Given the description of an element on the screen output the (x, y) to click on. 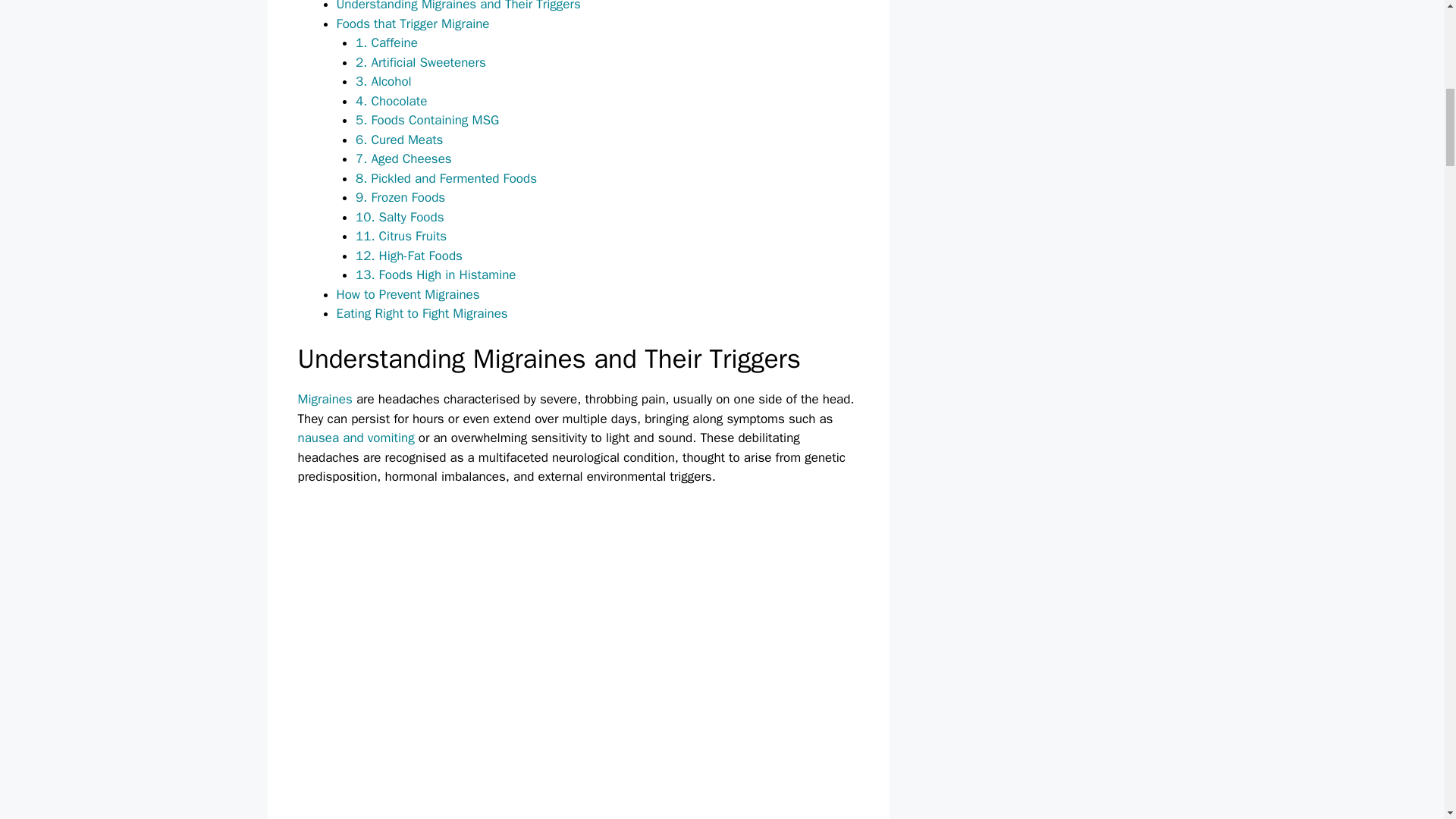
12. High-Fat Foods (409, 255)
1. Caffeine (386, 42)
Foods that Trigger Migraine (412, 23)
4. Chocolate (390, 100)
2. Artificial Sweeteners (420, 62)
10. Salty Foods (399, 217)
Eating Right to Fight Migraines (422, 313)
3. Alcohol (383, 81)
13. Foods High in Histamine (435, 274)
How to Prevent Migraines (408, 294)
6. Cured Meats (398, 139)
5. Foods Containing MSG (427, 119)
Understanding Migraines and Their Triggers (458, 6)
11. Citrus Fruits (400, 236)
9. Frozen Foods (400, 197)
